Given the description of an element on the screen output the (x, y) to click on. 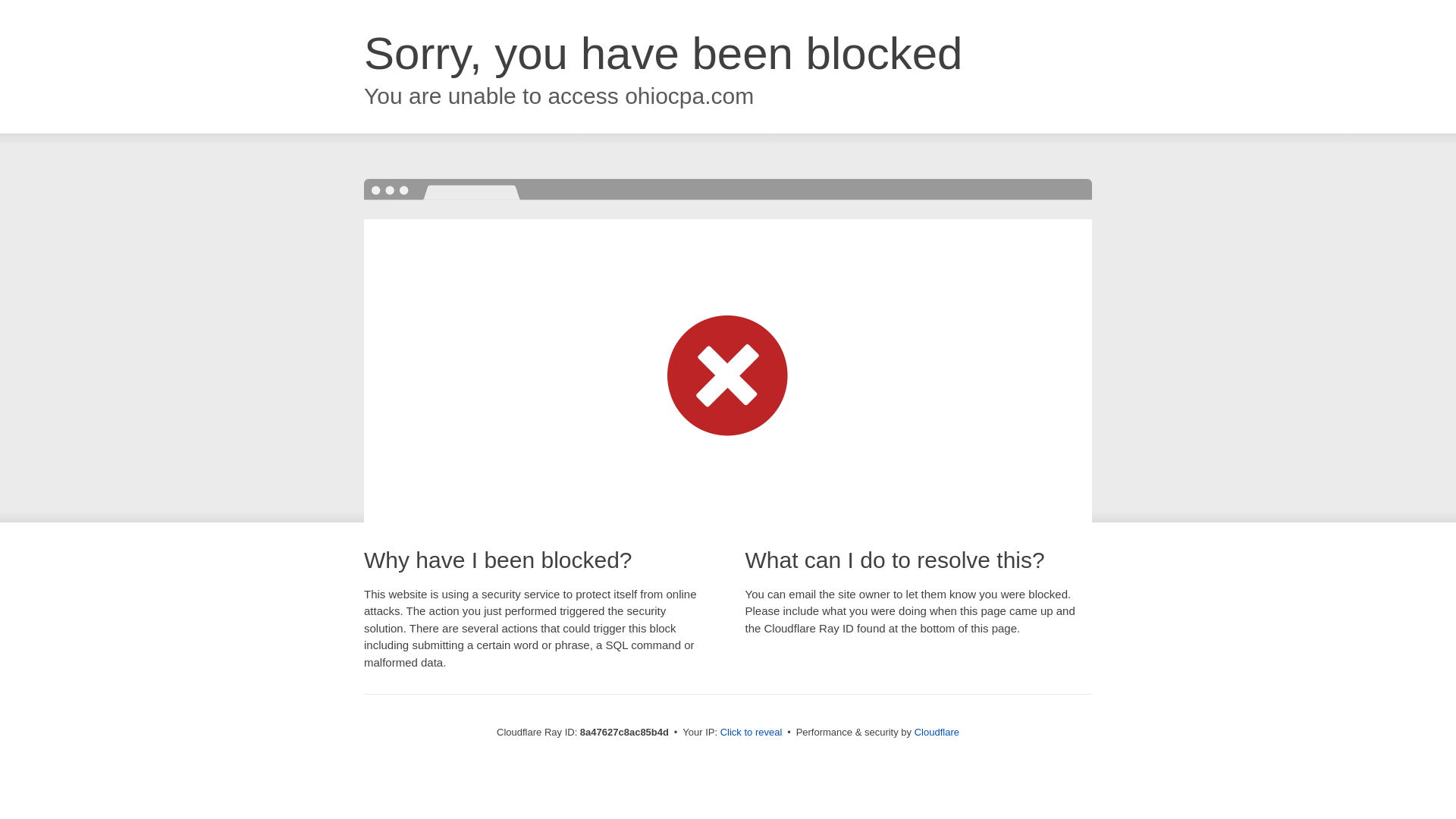
Click to reveal (751, 732)
Cloudflare (936, 731)
